Given the description of an element on the screen output the (x, y) to click on. 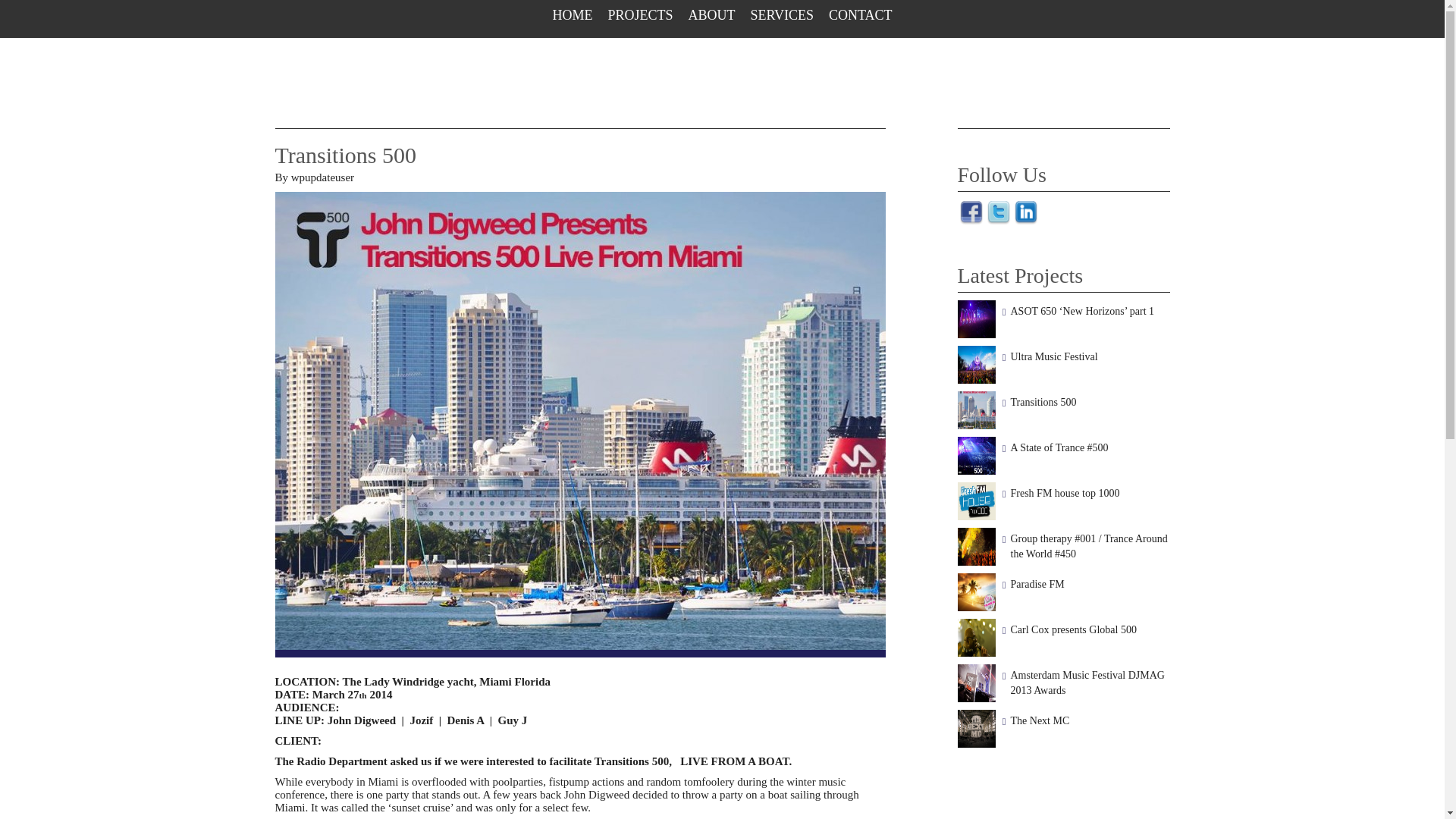
facebook (970, 212)
SERVICES (781, 15)
Posts by wpupdateuser (322, 177)
linkedin (1025, 222)
Paradise FM (1037, 583)
twitter (997, 212)
HOME (571, 15)
CONTACT (860, 15)
wpupdateuser (322, 177)
PROJECTS (639, 15)
The Next MC (1039, 720)
ABOUT (710, 15)
Amsterdam Music Festival DJMAG 2013 Awards (1086, 682)
Carl Cox presents Global 500 (1072, 629)
linkedin (1024, 212)
